Given the description of an element on the screen output the (x, y) to click on. 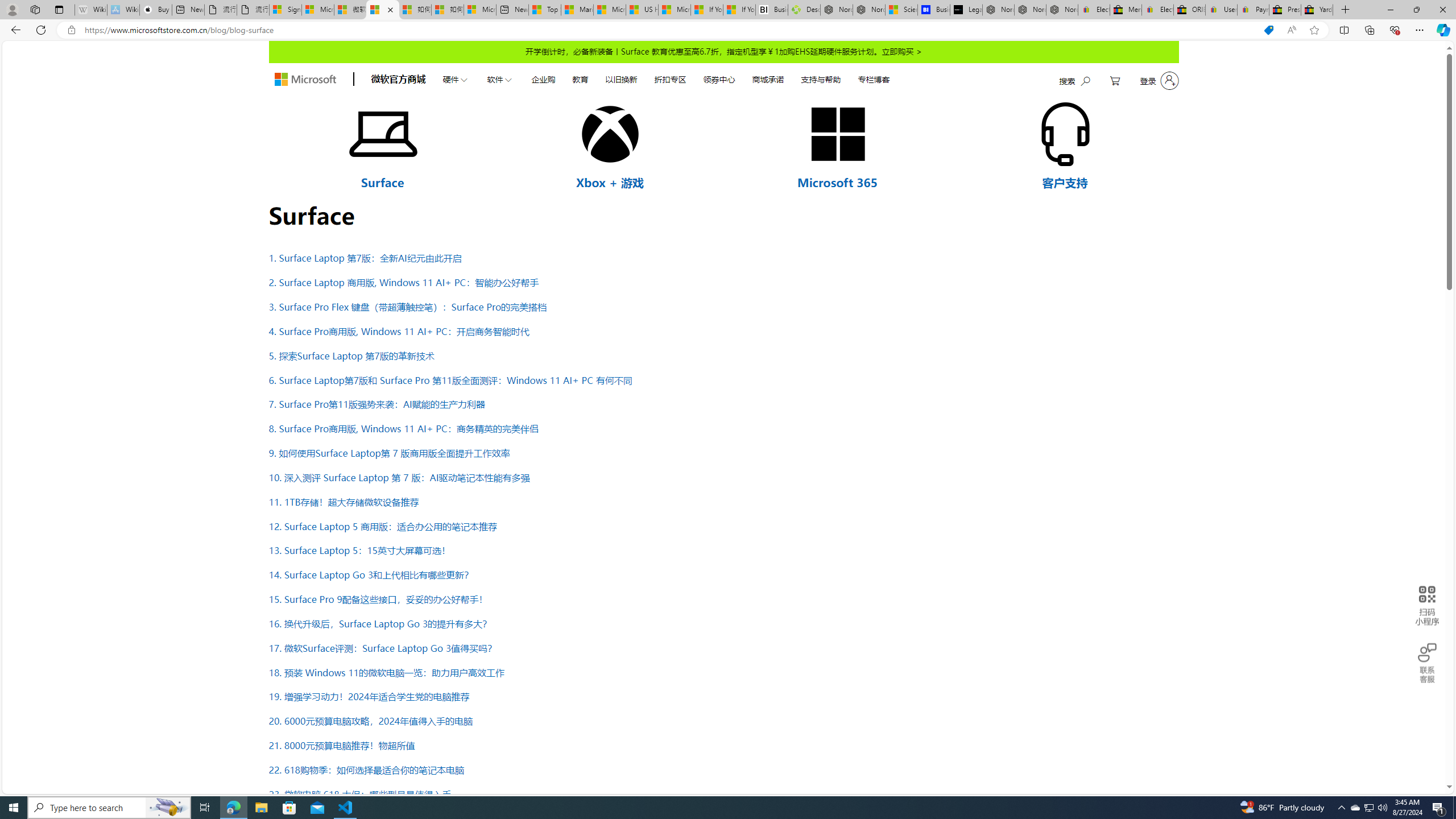
store logo (304, 79)
